Given the description of an element on the screen output the (x, y) to click on. 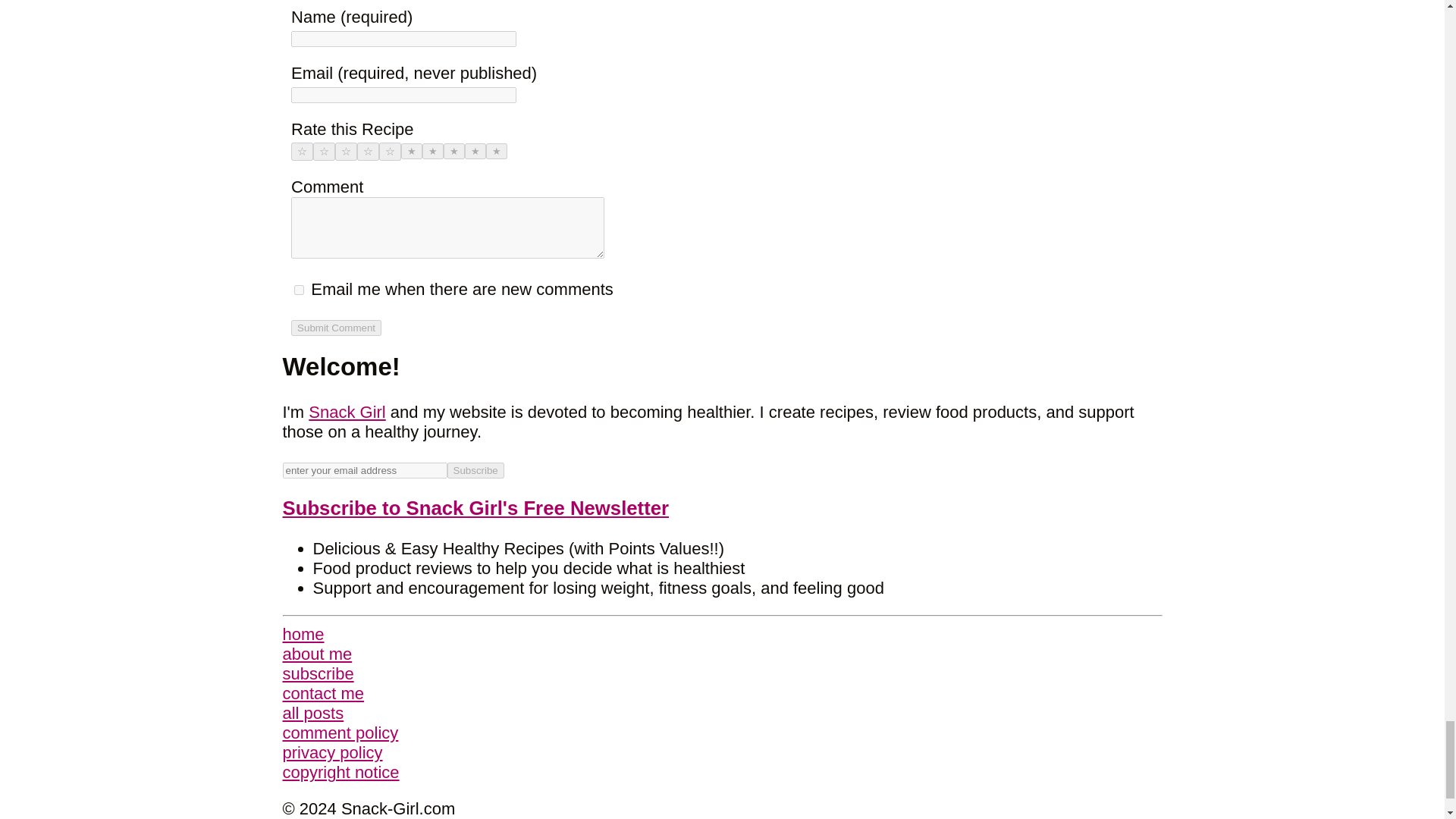
on (299, 289)
Submit Comment (336, 327)
Subscribe (474, 470)
